Given the description of an element on the screen output the (x, y) to click on. 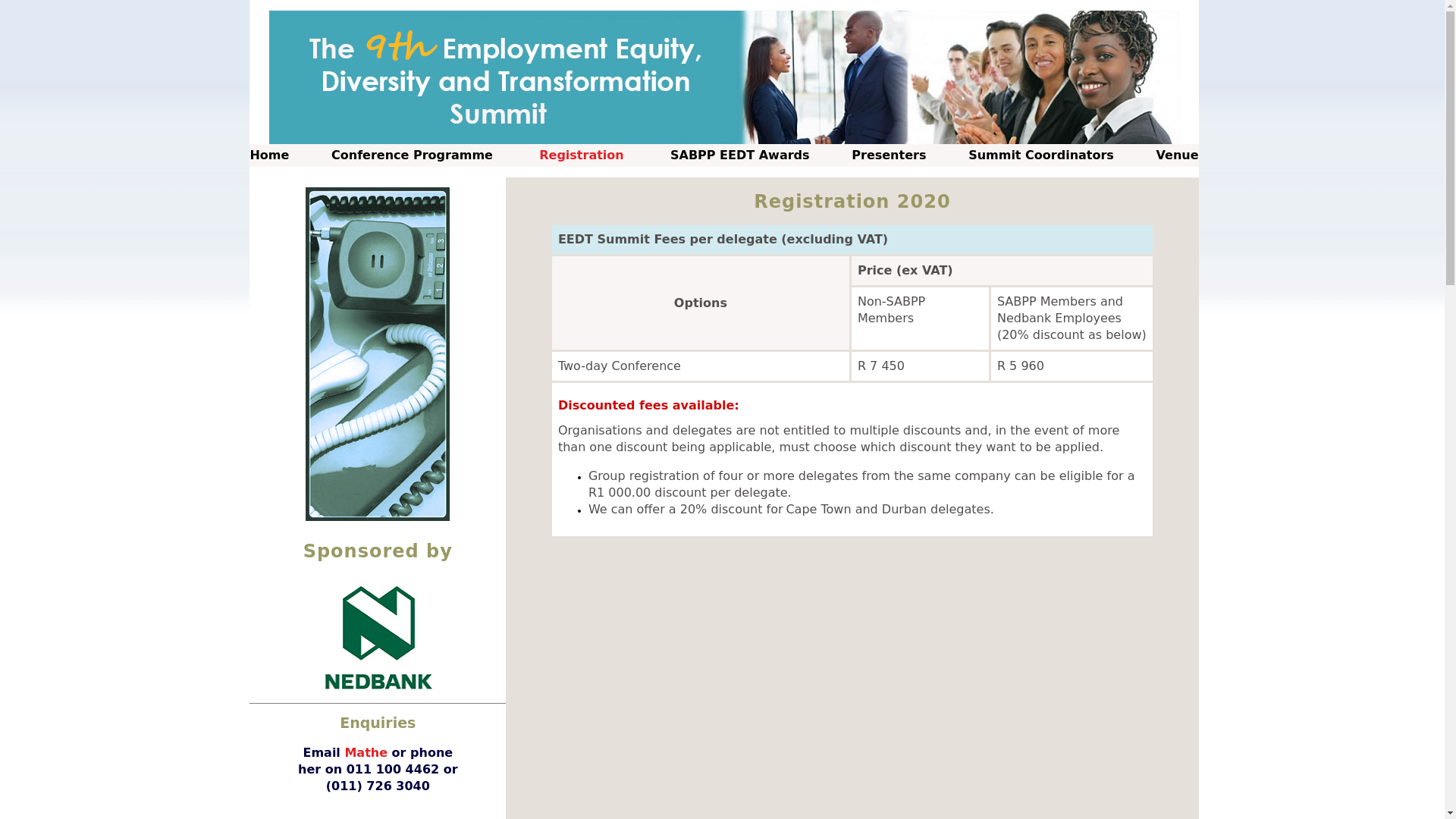
Venue (1177, 155)
Home (268, 155)
Presenters (890, 155)
Conference Programme (412, 155)
Mathe (365, 752)
SABPP EEDT Awards (739, 155)
Registration (580, 155)
Summit Coordinators (1040, 155)
